Given the description of an element on the screen output the (x, y) to click on. 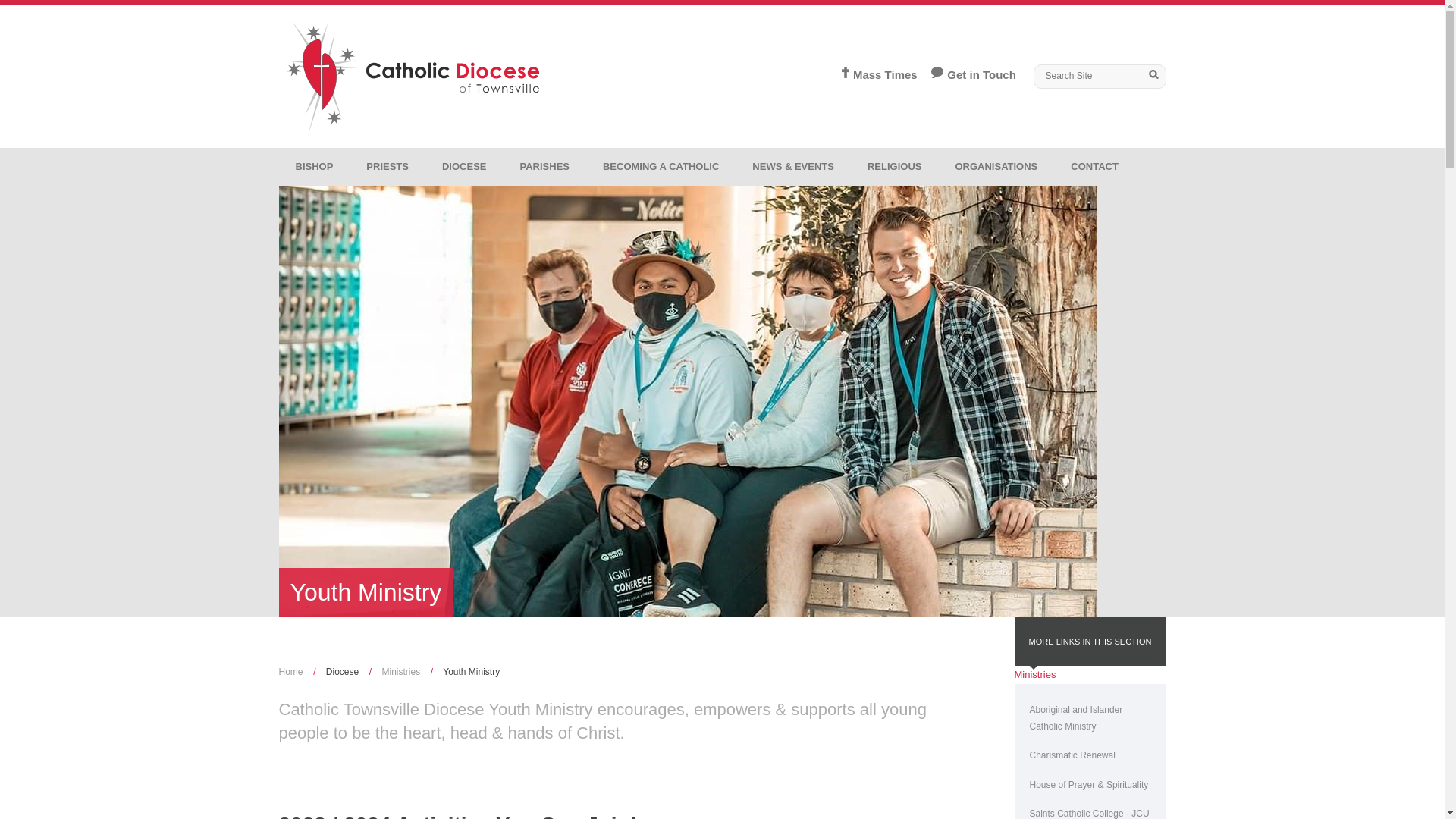
DIOCESE Element type: text (464, 166)
House of Prayer & Spirituality Element type: text (1090, 784)
Ministries Element type: text (1035, 674)
PRIESTS Element type: text (387, 166)
Get in Touch Element type: text (965, 75)
RELIGIOUS Element type: text (894, 166)
BECOMING A CATHOLIC Element type: text (660, 166)
Mass Times Element type: text (873, 75)
Charismatic Renewal Element type: text (1090, 754)
NEWS & EVENTS Element type: text (792, 166)
Home Element type: text (291, 671)
BISHOP Element type: text (314, 166)
CONTACT Element type: text (1094, 166)
Aboriginal and Islander Catholic Ministry Element type: text (1090, 717)
Ministries Element type: text (400, 671)
ORGANISATIONS Element type: text (996, 166)
PARISHES Element type: text (544, 166)
